Given the description of an element on the screen output the (x, y) to click on. 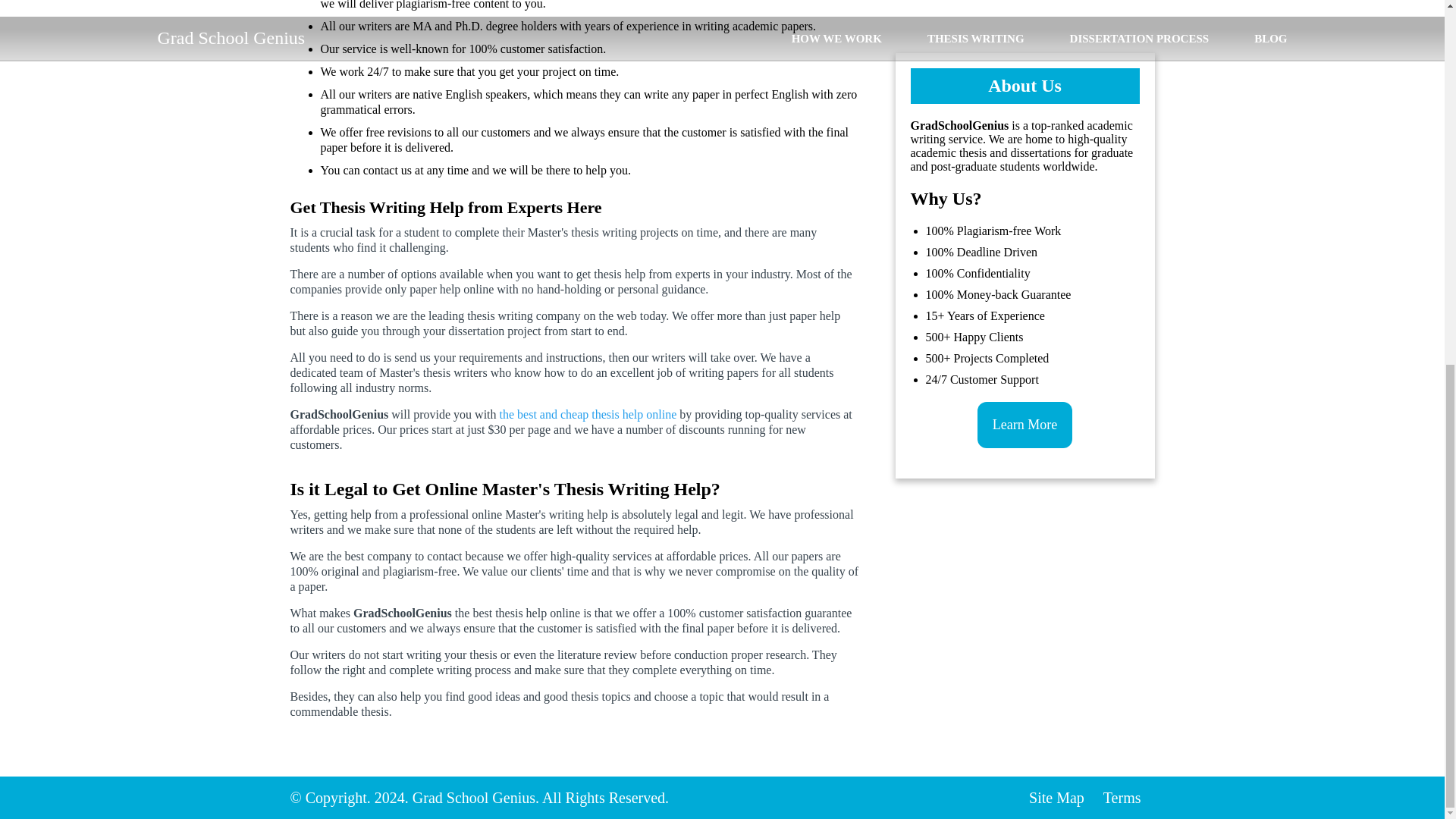
Site Map (1056, 797)
the best and cheap thesis help online (588, 414)
Terms (1122, 797)
Learn More (1023, 195)
